Given the description of an element on the screen output the (x, y) to click on. 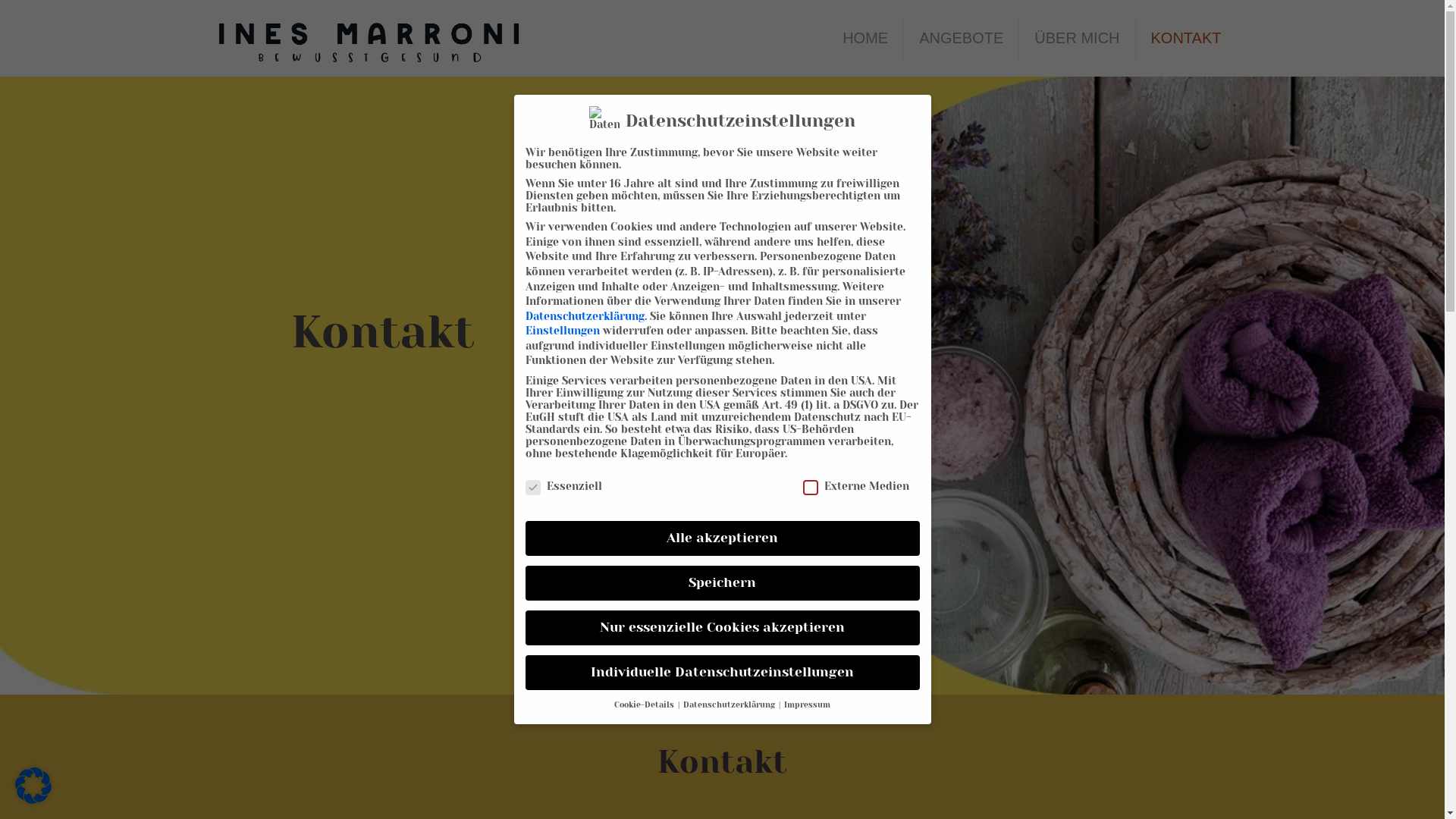
KONTAKT Element type: text (1185, 37)
Ines Marroni Element type: hover (367, 37)
Cookie-Details Element type: text (645, 704)
Einstellungen Element type: text (561, 330)
Alle akzeptieren Element type: text (721, 537)
Speichern Element type: text (721, 582)
Nur essenzielle Cookies akzeptieren Element type: text (721, 627)
ANGEBOTE Element type: text (961, 37)
Individuelle Datenschutzeinstellungen Element type: text (721, 672)
HOME Element type: text (865, 37)
Impressum Element type: text (807, 704)
